Given the description of an element on the screen output the (x, y) to click on. 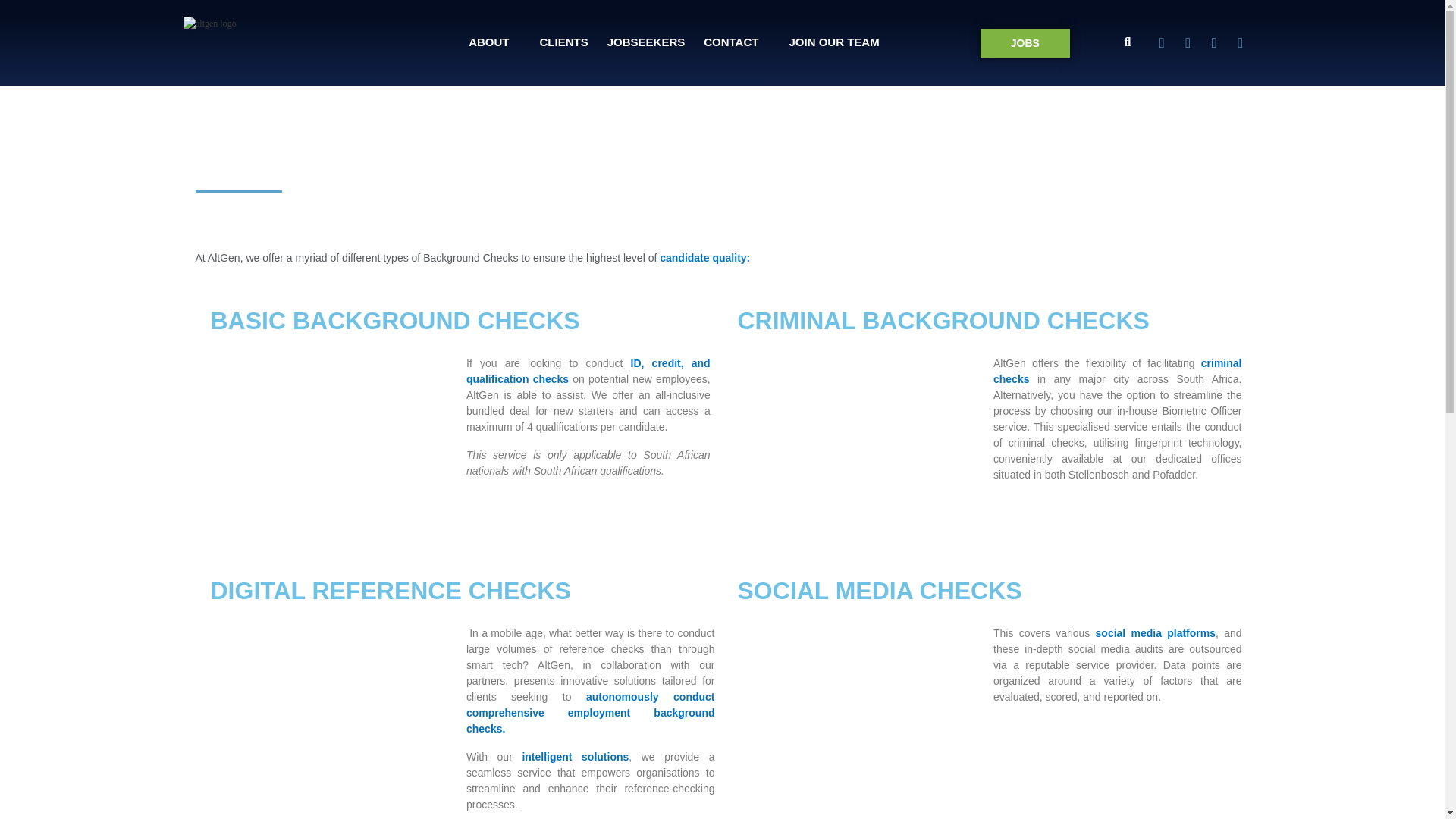
JOBS (1024, 42)
JOIN OUR TEAM (833, 41)
CONTACT (730, 41)
CLIENTS (564, 41)
ABOUT (488, 41)
JOBSEEKERS (646, 41)
